Given the description of an element on the screen output the (x, y) to click on. 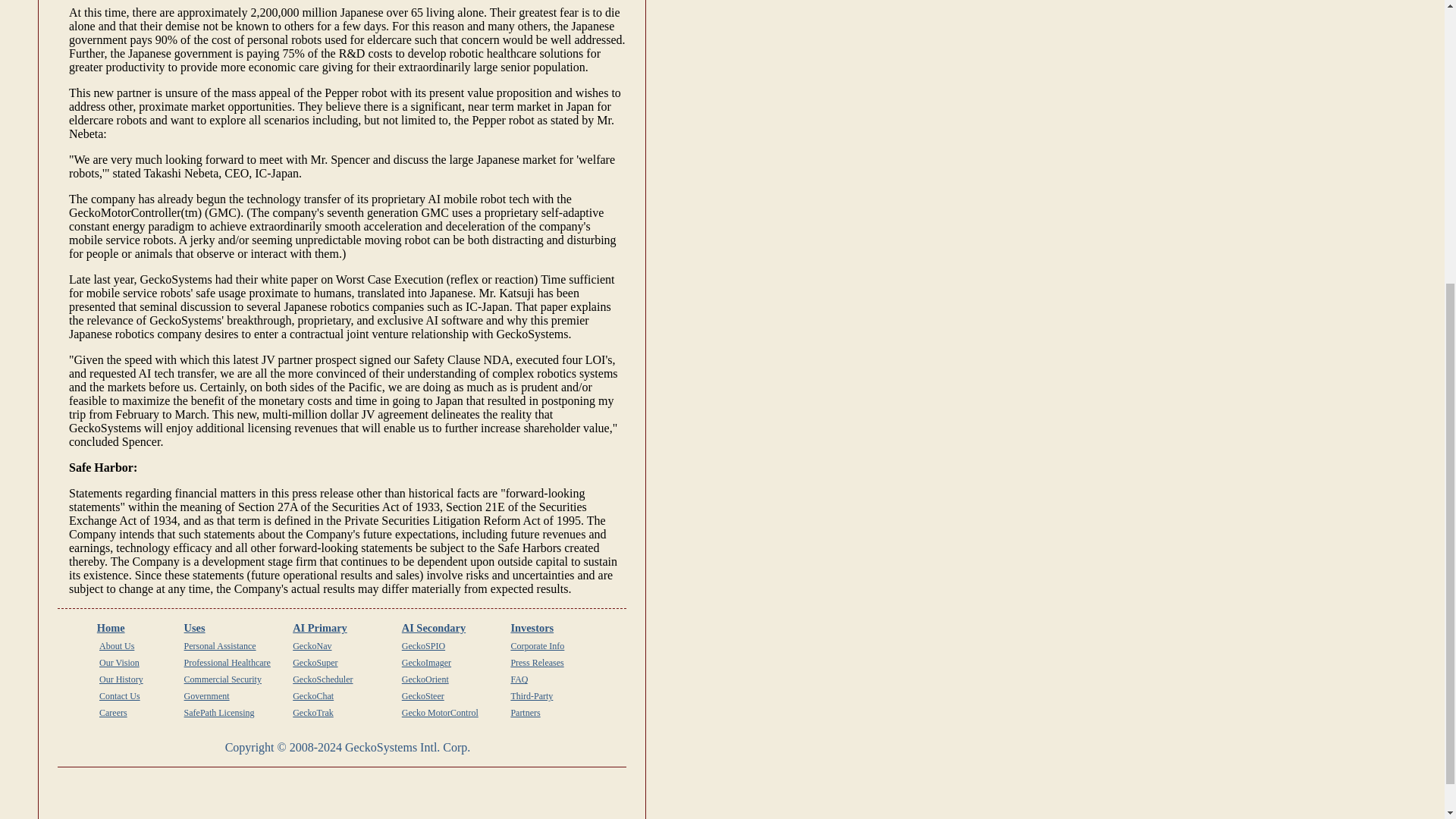
Uses (194, 627)
About Us (116, 645)
Home (111, 627)
Investors (532, 627)
GeckoNav (311, 645)
AI Primary (319, 627)
AI Secondary (433, 627)
Personal Assistance (220, 645)
GeckoSPIO (423, 645)
